Given the description of an element on the screen output the (x, y) to click on. 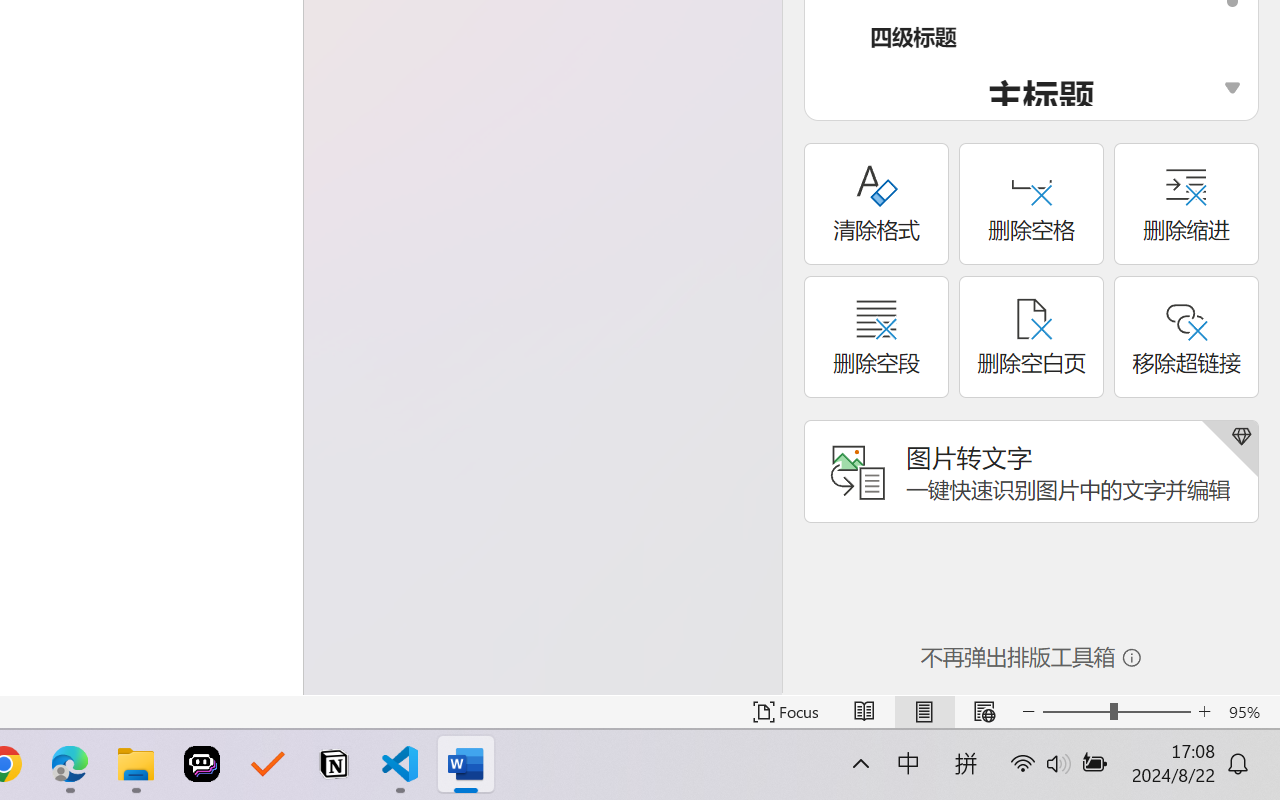
Stock Images (55, 68)
